Given the description of an element on the screen output the (x, y) to click on. 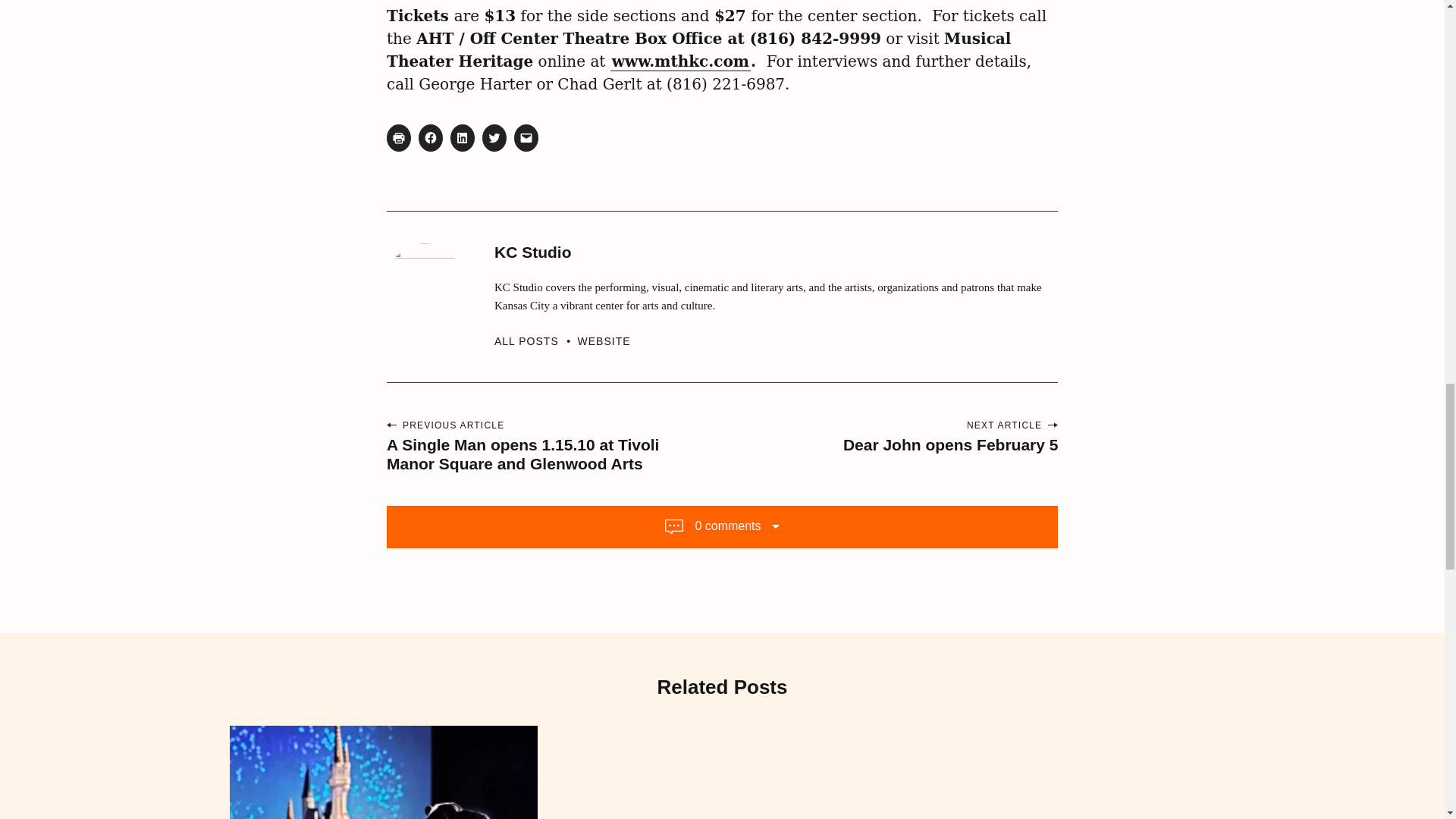
Click to email a link to a friend (525, 137)
Click to share on LinkedIn (461, 137)
Click to print (398, 137)
View all posts by KC Studio (536, 340)
Click to share on Facebook (430, 137)
www.mthkc.com (680, 61)
WEBSITE (604, 340)
ALL POSTS (536, 340)
Click to share on Twitter (493, 137)
